Given the description of an element on the screen output the (x, y) to click on. 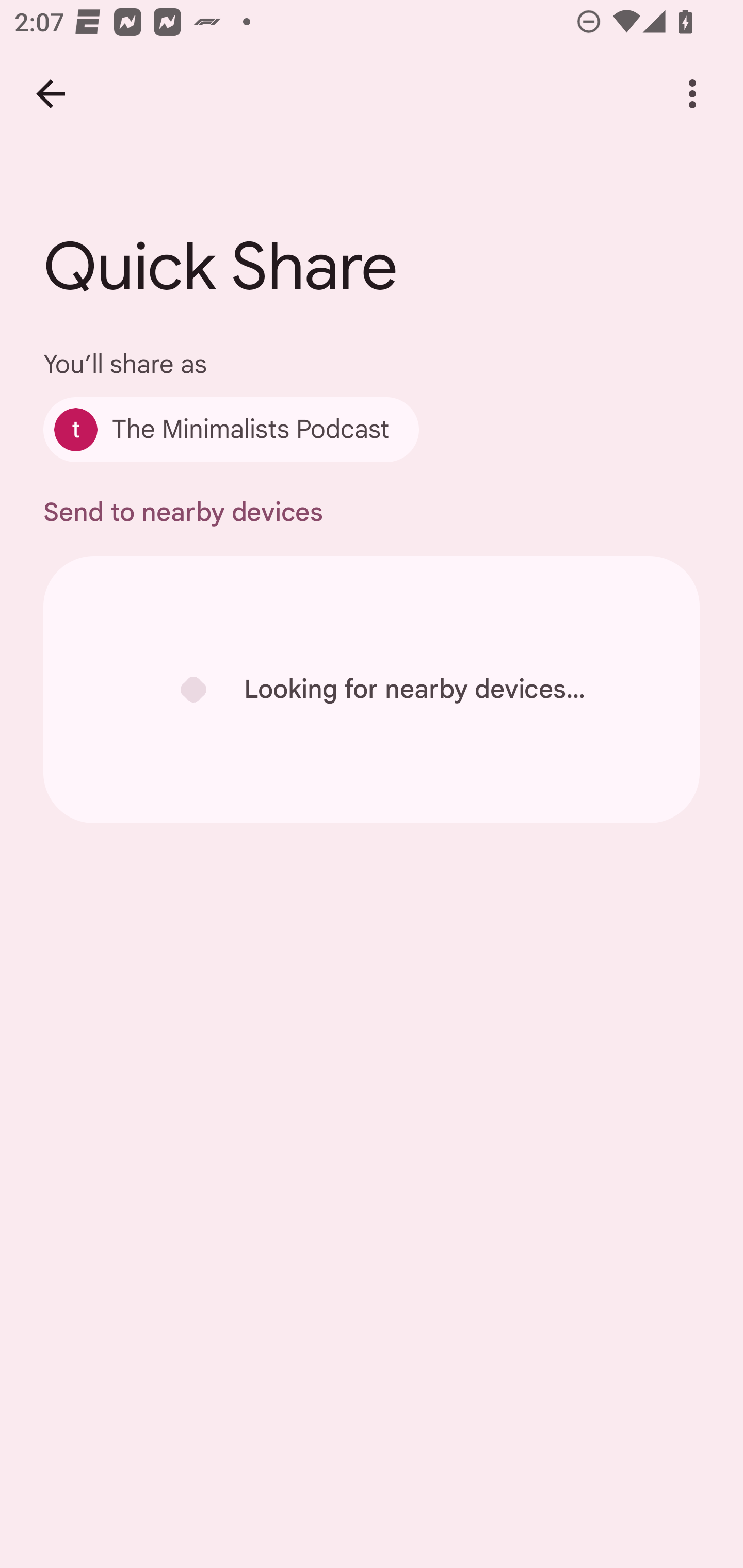
Back (50, 93)
More (692, 93)
The Minimalists Podcast (231, 429)
